Given the description of an element on the screen output the (x, y) to click on. 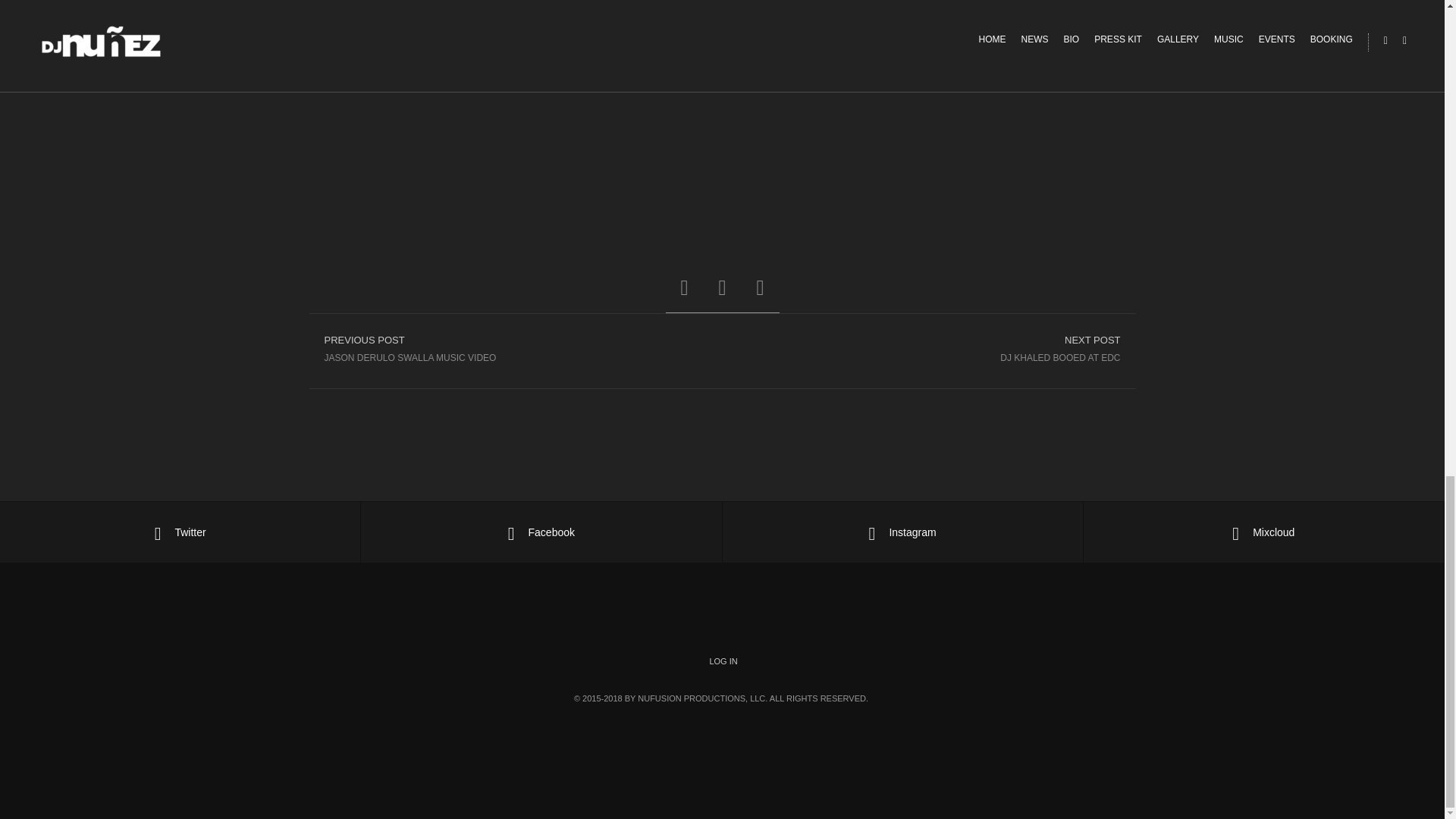
LOG IN (928, 348)
Twitter (722, 660)
Instagram (180, 532)
Facebook (902, 532)
